Given the description of an element on the screen output the (x, y) to click on. 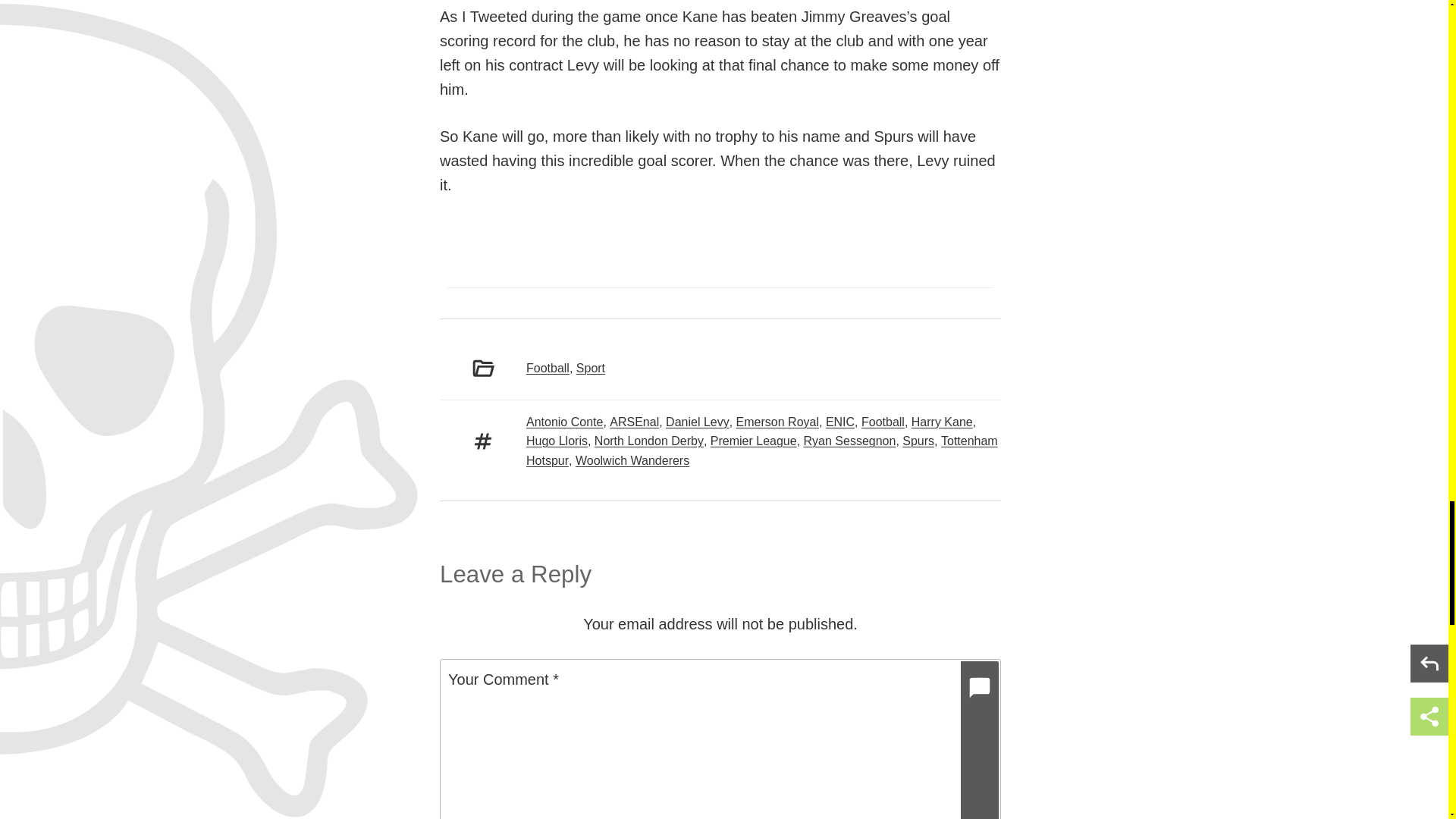
Antonio Conte (563, 421)
Sport (590, 367)
Football (882, 421)
Tottenham Hotspur (761, 450)
North London Derby (648, 440)
Woolwich Wanderers (631, 460)
Spurs (918, 440)
ENIC (839, 421)
Emerson Royal (777, 421)
Ryan Sessegnon (849, 440)
Football (547, 367)
Harry Kane (941, 421)
Hugo Lloris (556, 440)
Premier League (753, 440)
ARSEnal (634, 421)
